Given the description of an element on the screen output the (x, y) to click on. 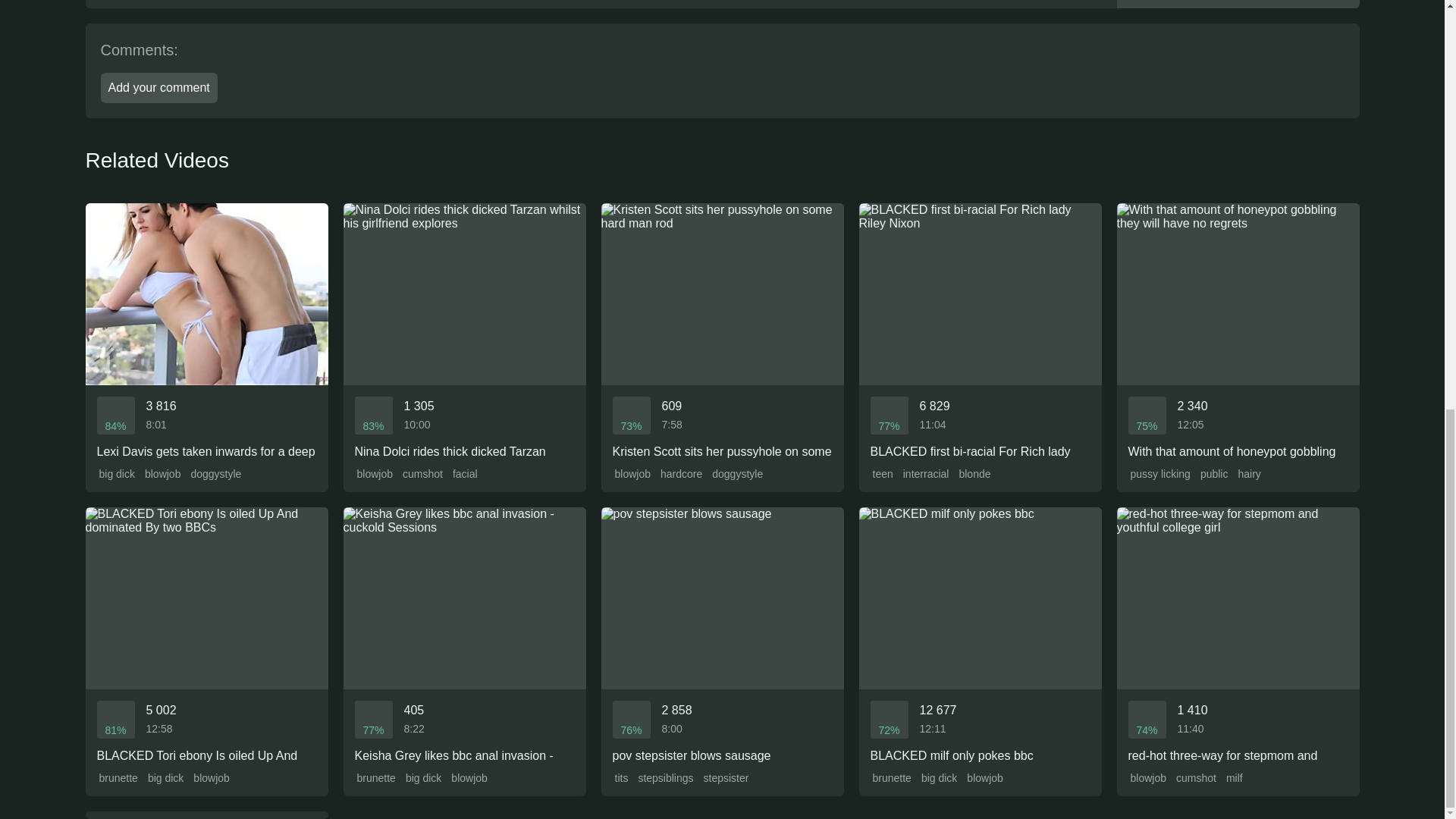
doggystyle (214, 473)
Kristen Scott sits her pussyhole on some (721, 331)
blowjob (374, 473)
facial (463, 473)
pussy licking (1159, 473)
big dick (164, 777)
cumshot (421, 473)
big dick (116, 473)
blonde (973, 473)
Nina Dolci rides thick dicked Tarzan (463, 331)
teen (881, 473)
doggystyle (736, 473)
brunette (117, 777)
With that amount of honeypot gobbling (1237, 331)
BLACKED first bi-racial For Rich lady (979, 331)
